Given the description of an element on the screen output the (x, y) to click on. 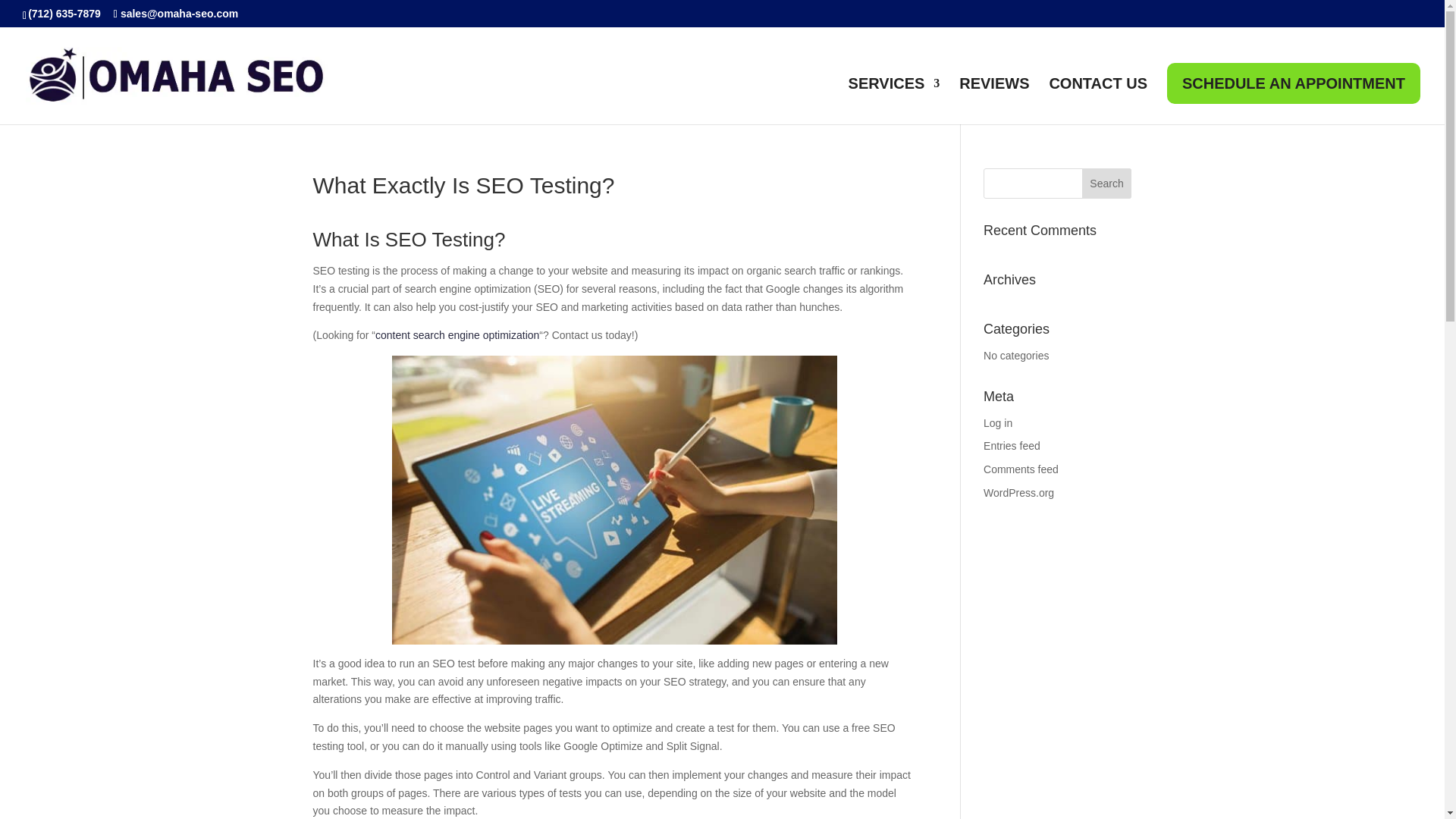
REVIEWS (994, 100)
Entries feed (1012, 445)
Search (1106, 183)
SERVICES (894, 100)
SCHEDULE AN APPOINTMENT (1294, 83)
Comments feed (1021, 469)
CONTACT US (1097, 100)
Search (1106, 183)
content search engine optimization (456, 335)
Log in (997, 422)
WordPress.org (1019, 492)
